Given the description of an element on the screen output the (x, y) to click on. 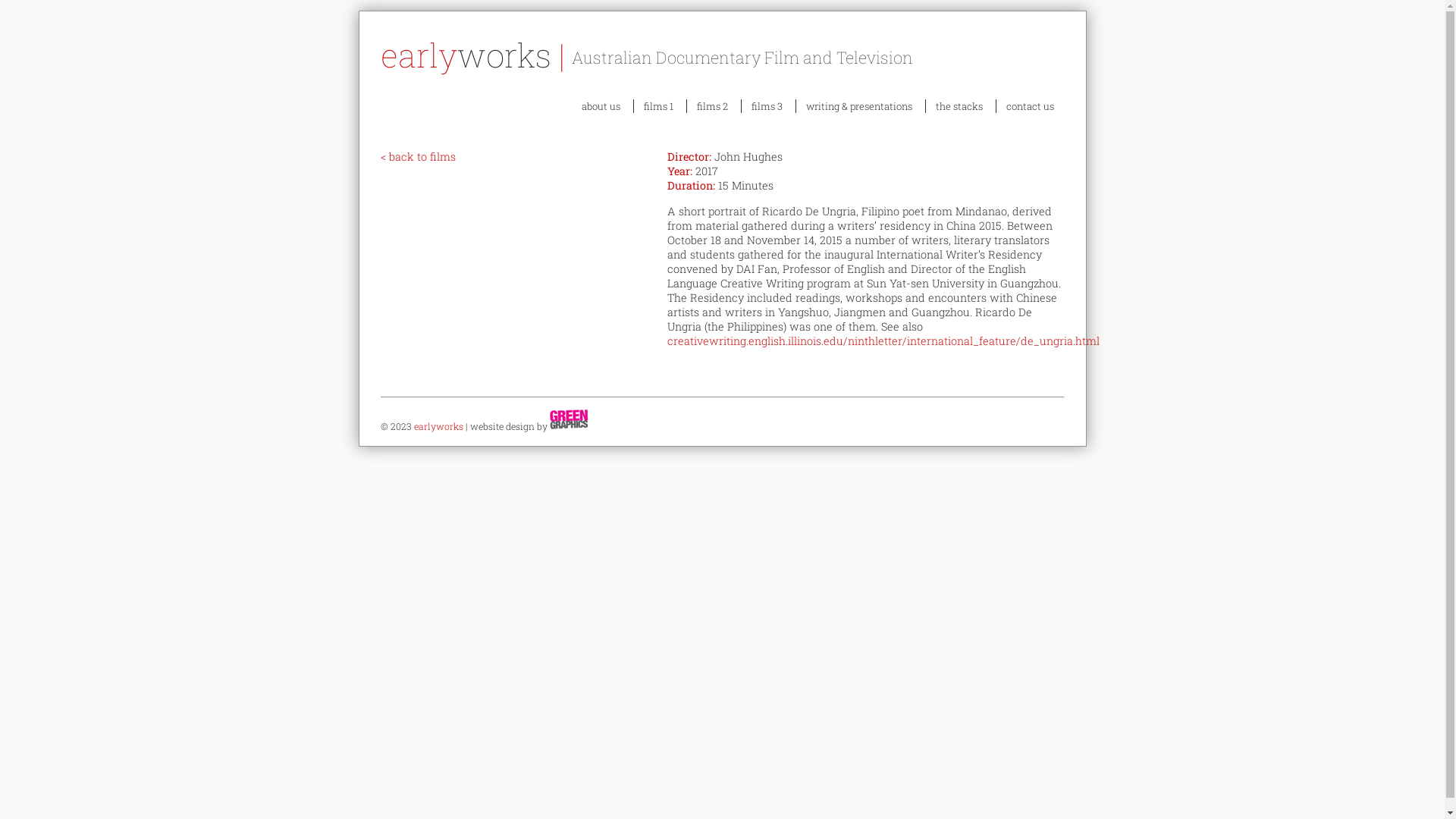
the stacks Element type: text (958, 105)
contact us Element type: text (1029, 105)
about us Element type: text (600, 105)
earlyworks Element type: text (438, 426)
< back to films Element type: text (417, 156)
films 3 Element type: text (766, 105)
writing & presentations Element type: text (859, 105)
films 1 Element type: text (658, 105)
earlyworks |
Australian Documentary Film and Television Element type: text (721, 54)
films 2 Element type: text (712, 105)
